Given the description of an element on the screen output the (x, y) to click on. 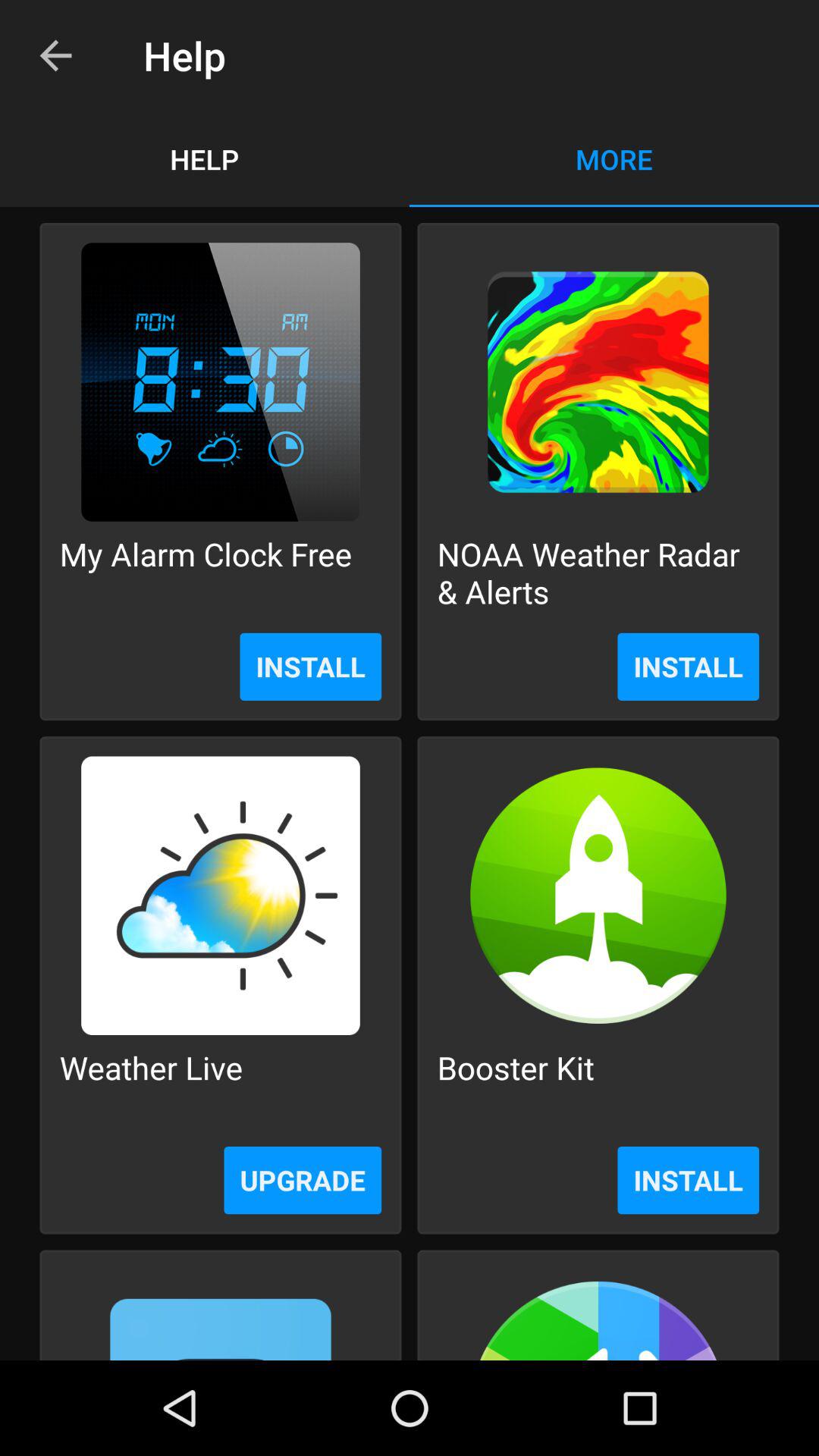
choose my alarm clock item (205, 572)
